Given the description of an element on the screen output the (x, y) to click on. 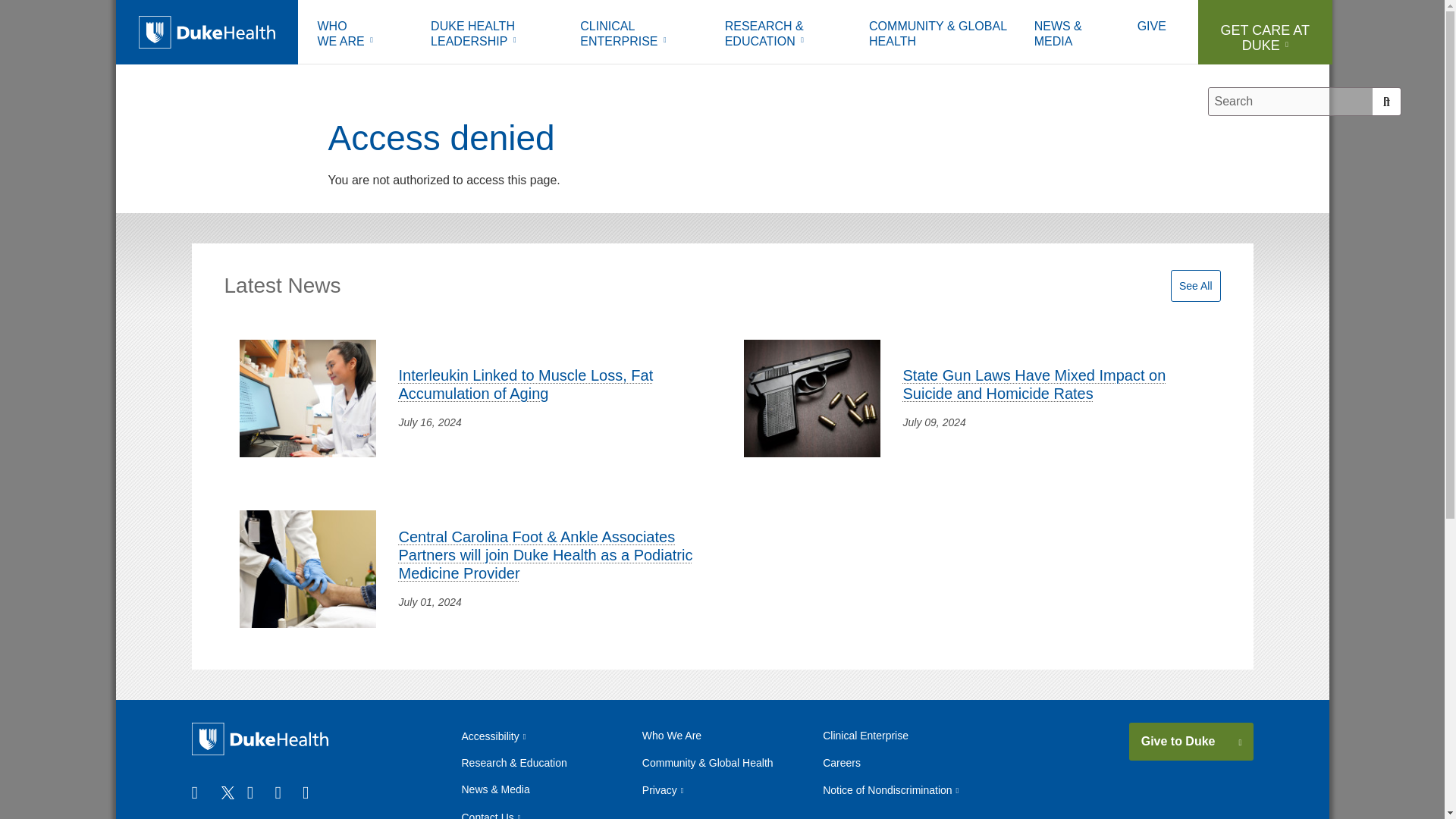
CLINICAL ENTERPRISE (641, 35)
DUKE HEALTH LEADERSHIP (494, 35)
